Given the description of an element on the screen output the (x, y) to click on. 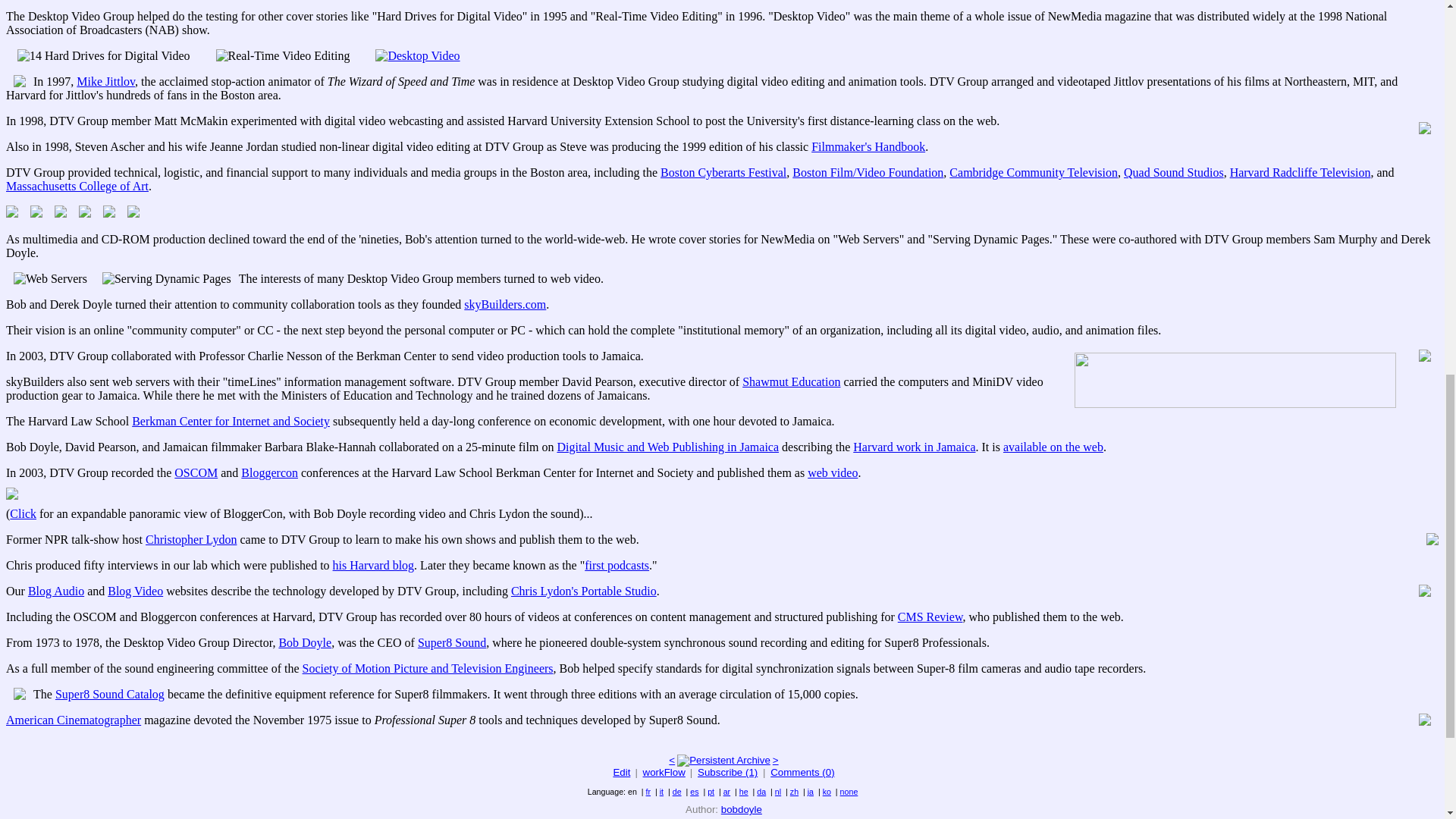
Use the language code set in your browser. (849, 791)
Digital Music and Web Publishing in Jamaica (667, 446)
Quad Sound Studios (1174, 172)
available on the web (1053, 446)
Shawmut Education (791, 381)
Filmmaker's Handbook (867, 146)
Massachusetts College of Art (76, 185)
Bloggercon (269, 472)
NewMedia article - Desktop Video (417, 55)
Cambridge Community Television (1033, 172)
Boston Cyberarts Festival (723, 172)
Berkman Center for Internet and Society (231, 420)
skyBuilders.com (505, 304)
Harvard work in Jamaica (914, 446)
OSCOM (195, 472)
